Given the description of an element on the screen output the (x, y) to click on. 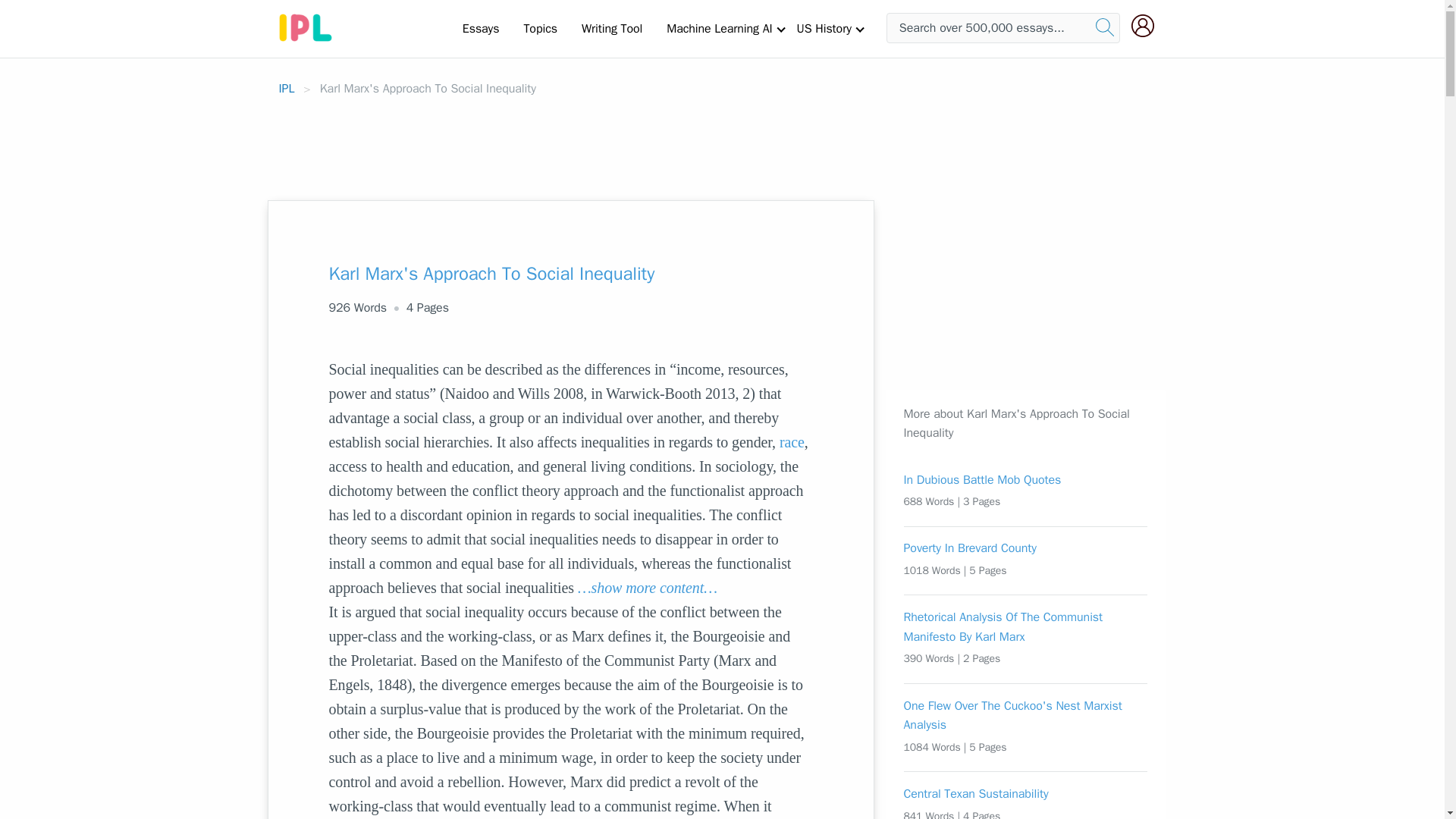
Machine Learning AI (718, 28)
US History (823, 28)
Essays (480, 28)
race (791, 442)
Writing Tool (611, 28)
Topics (540, 28)
IPL (287, 88)
